Given the description of an element on the screen output the (x, y) to click on. 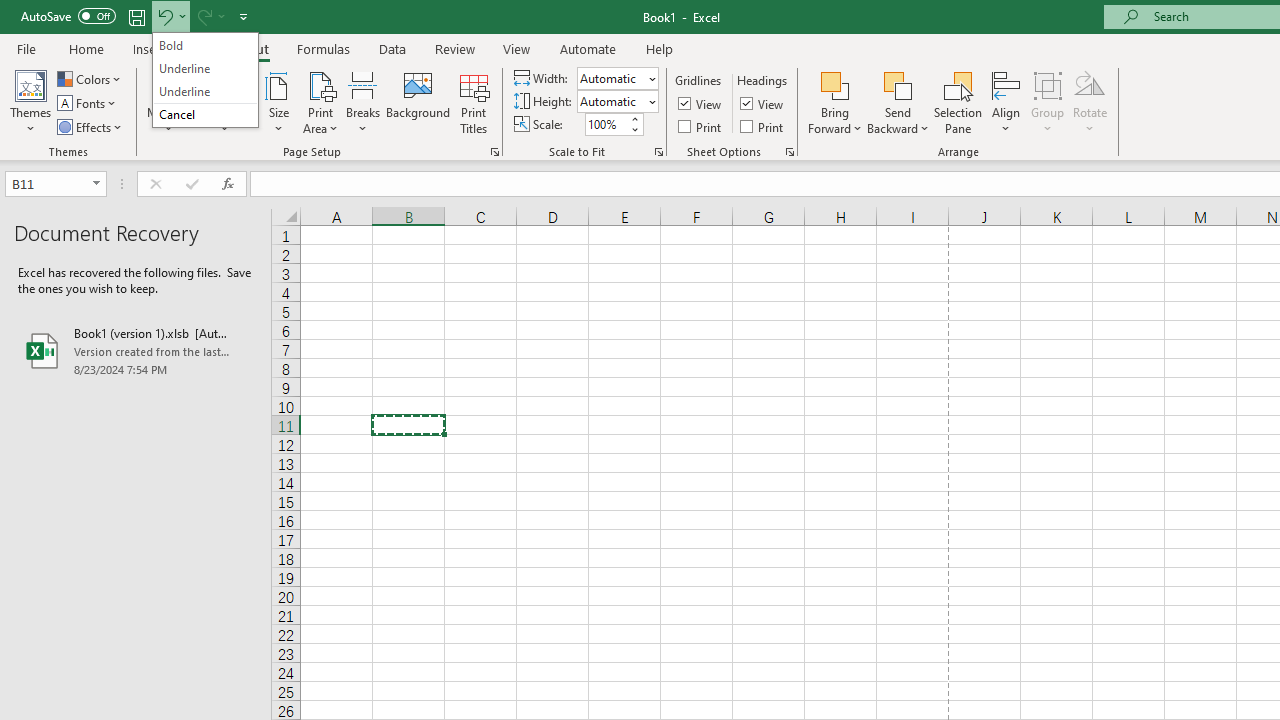
Bring Forward (835, 102)
Selection Pane... (958, 102)
Group (1047, 102)
Fonts (87, 103)
Print Titles (474, 102)
Rotate (1089, 102)
Send Backward (898, 84)
